Given the description of an element on the screen output the (x, y) to click on. 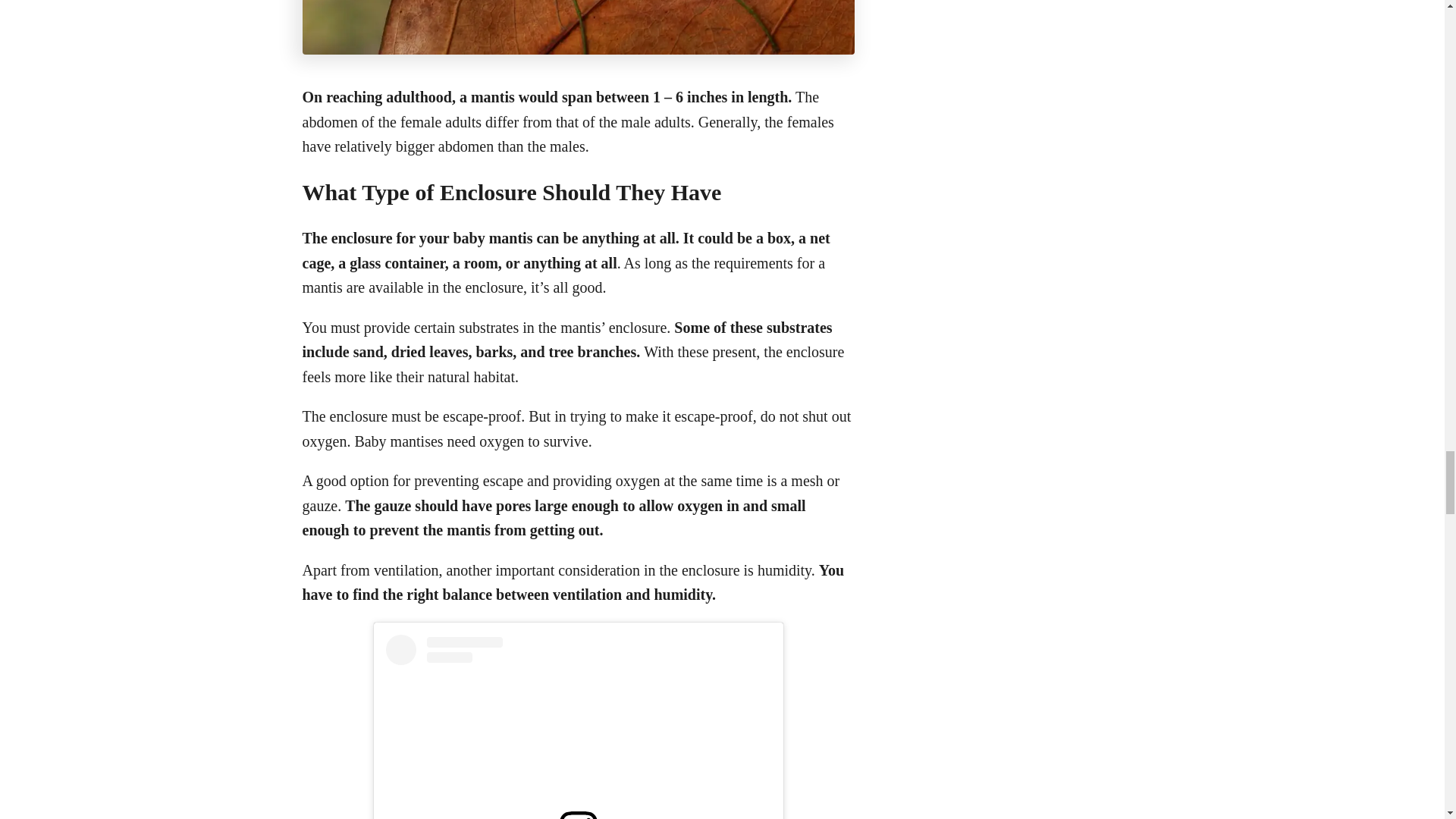
View this post on Instagram (577, 726)
